Given the description of an element on the screen output the (x, y) to click on. 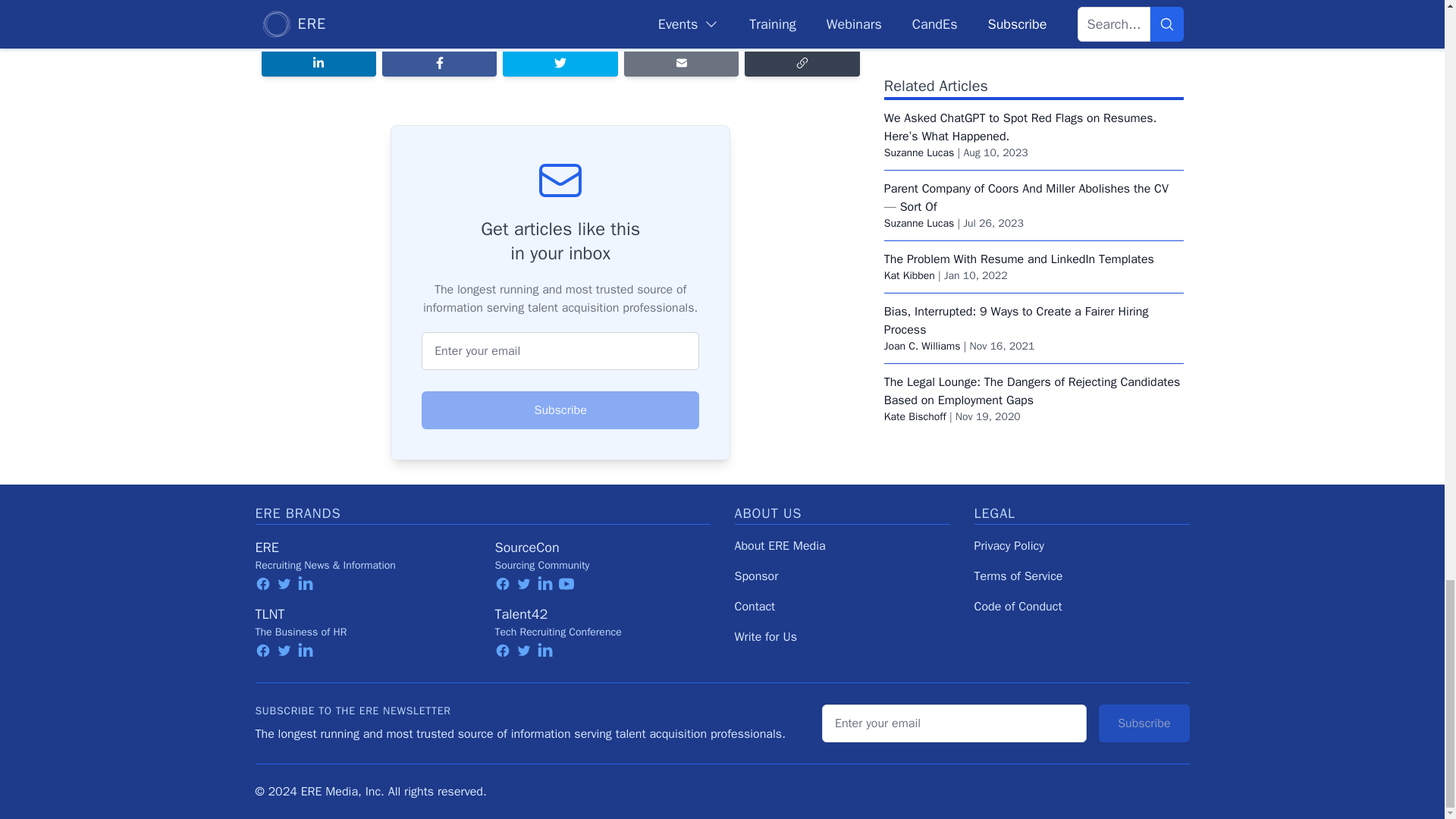
version of GDPR (799, 24)
Joan C. Williams (921, 73)
Kat Kibben (908, 4)
Bias, Interrupted: 9 Ways to Create a Fairer Hiring Process (1015, 48)
GDPR (555, 4)
Kate Bischoff (914, 144)
ERE (266, 547)
Subscribe (560, 410)
